Given the description of an element on the screen output the (x, y) to click on. 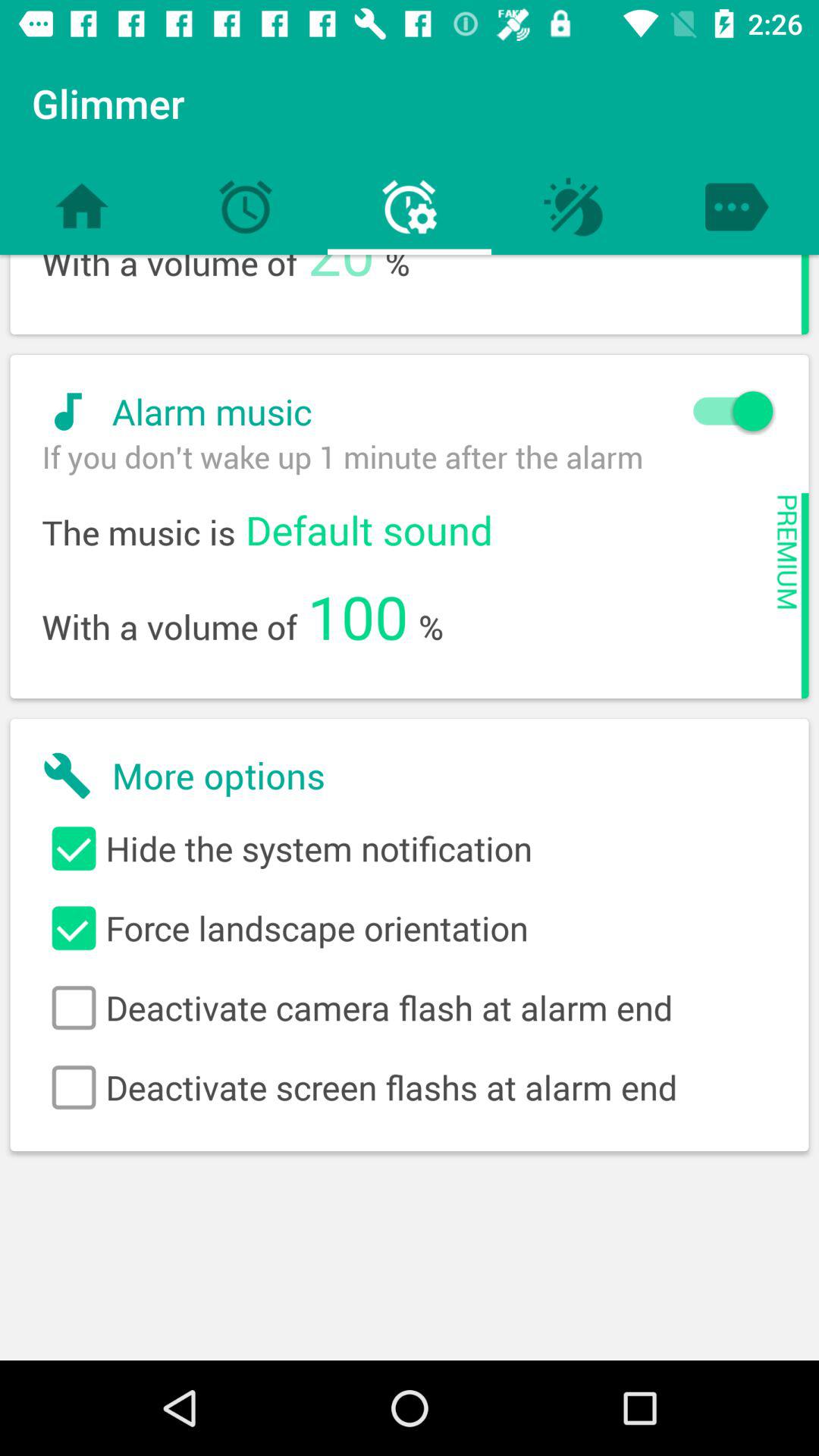
choose the deactivate camera flash (409, 1007)
